Given the description of an element on the screen output the (x, y) to click on. 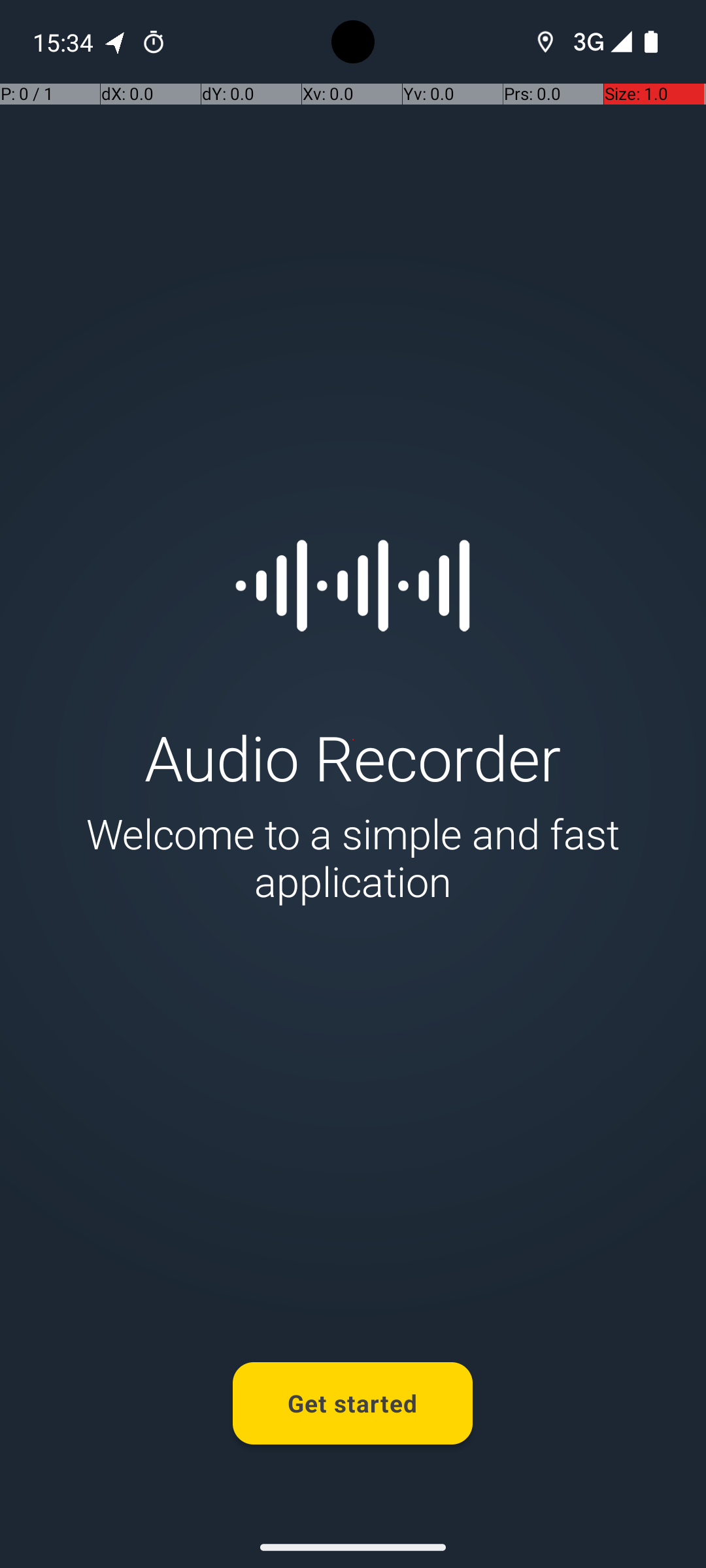
3G Element type: android.widget.ImageView (587, 41)
